Given the description of an element on the screen output the (x, y) to click on. 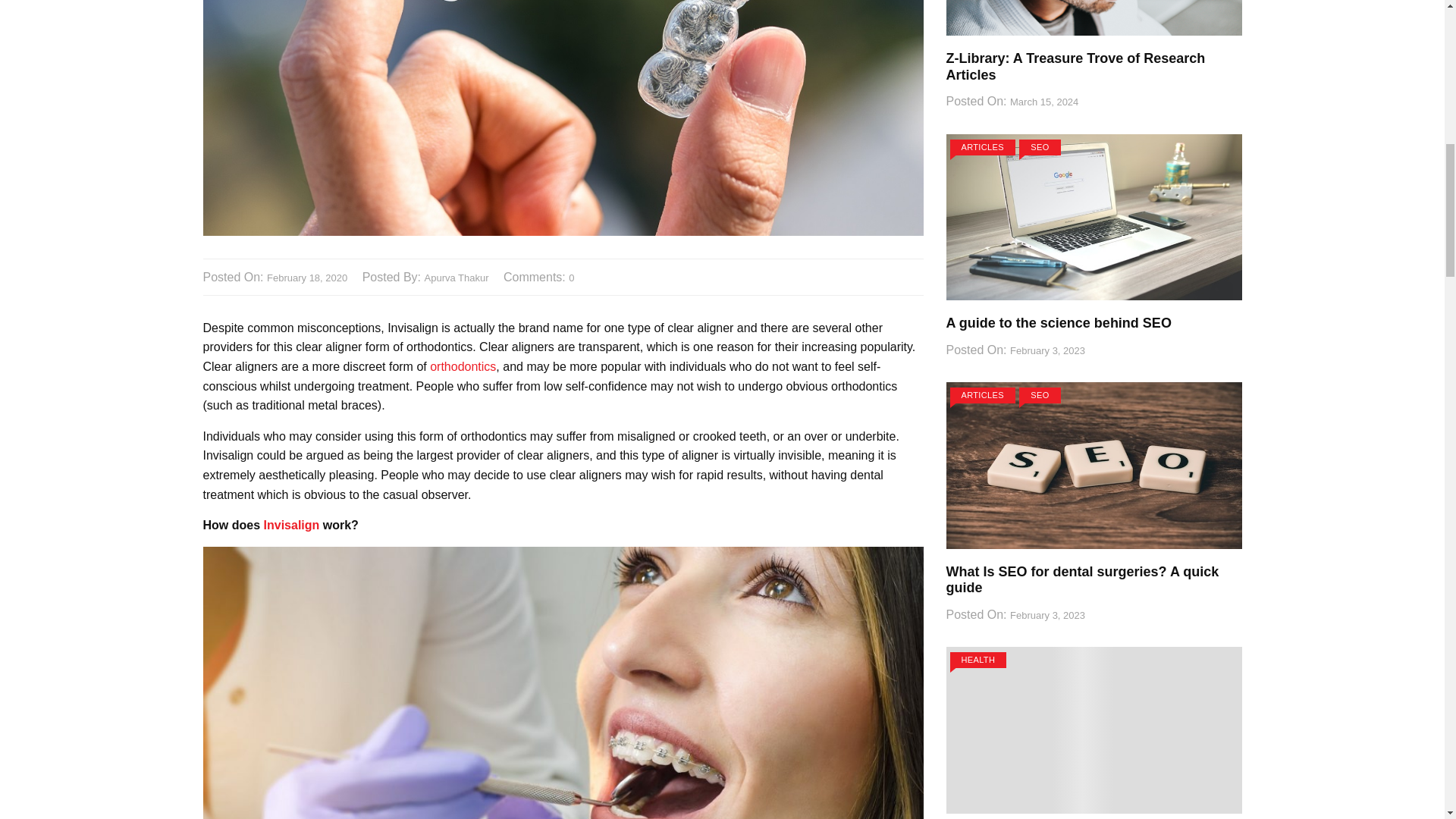
February 18, 2020 (306, 278)
